Given the description of an element on the screen output the (x, y) to click on. 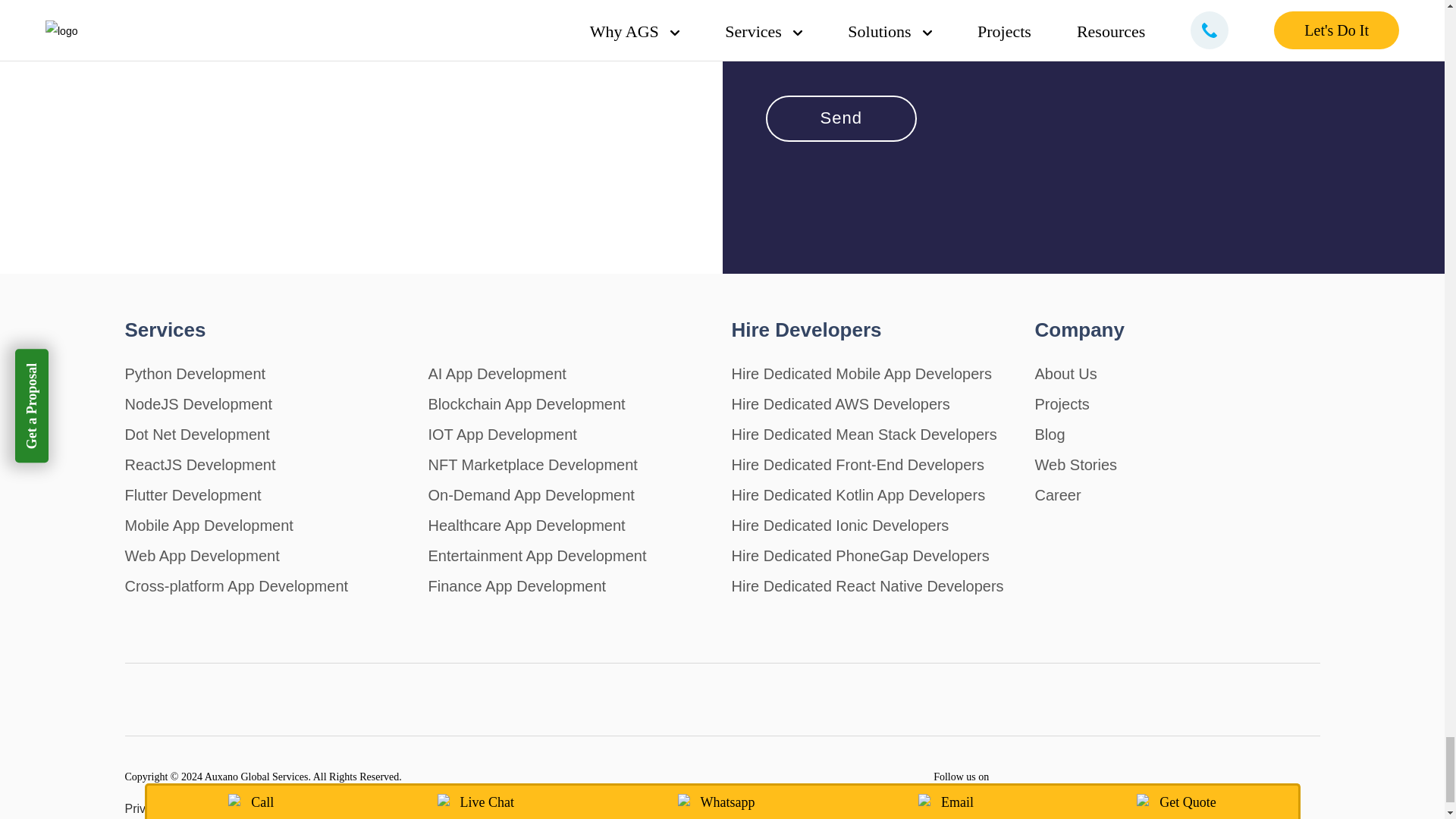
Send (841, 117)
Yes (770, 30)
